Given the description of an element on the screen output the (x, y) to click on. 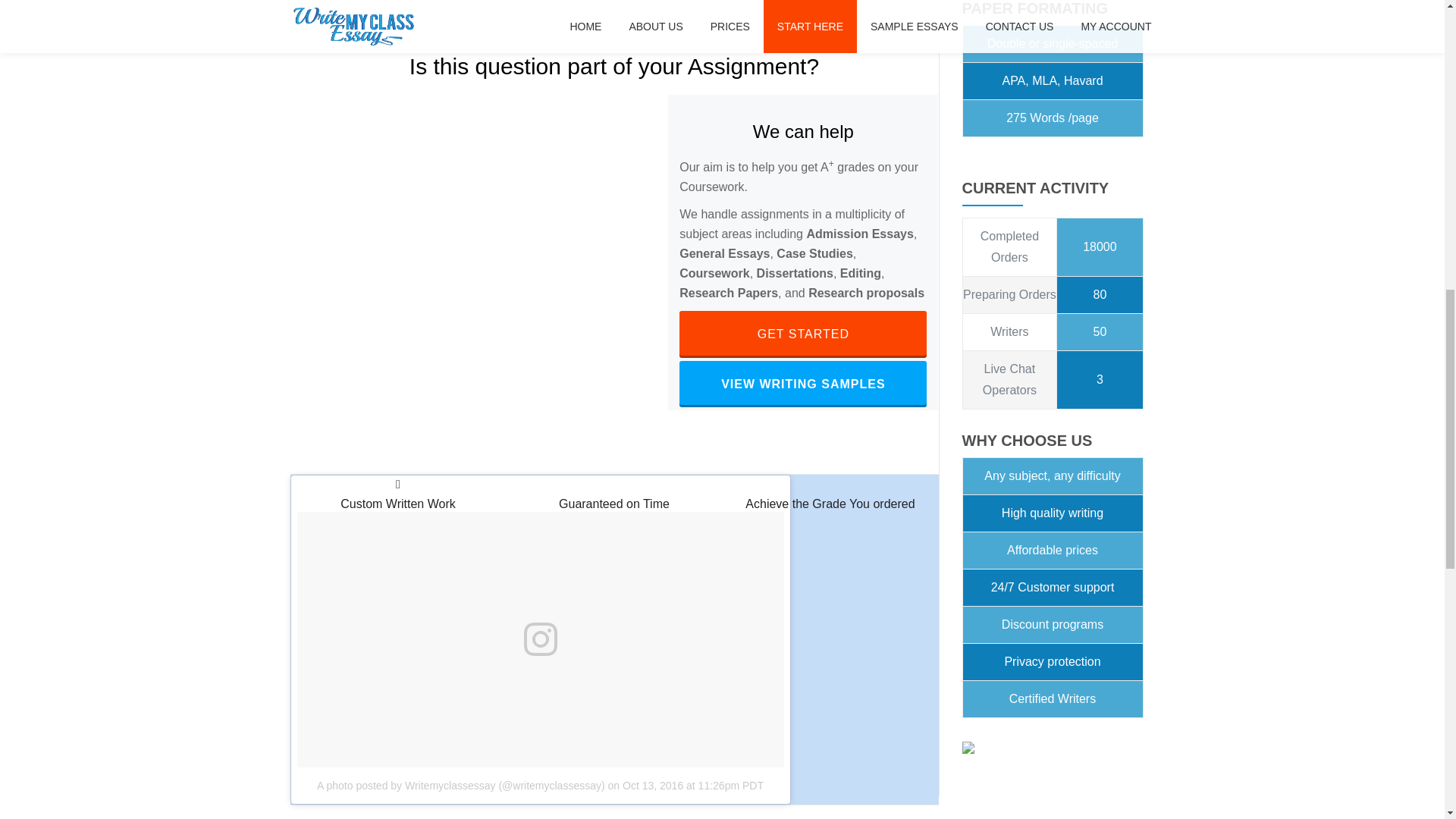
 View Client Testimonials (802, 334)
